Given the description of an element on the screen output the (x, y) to click on. 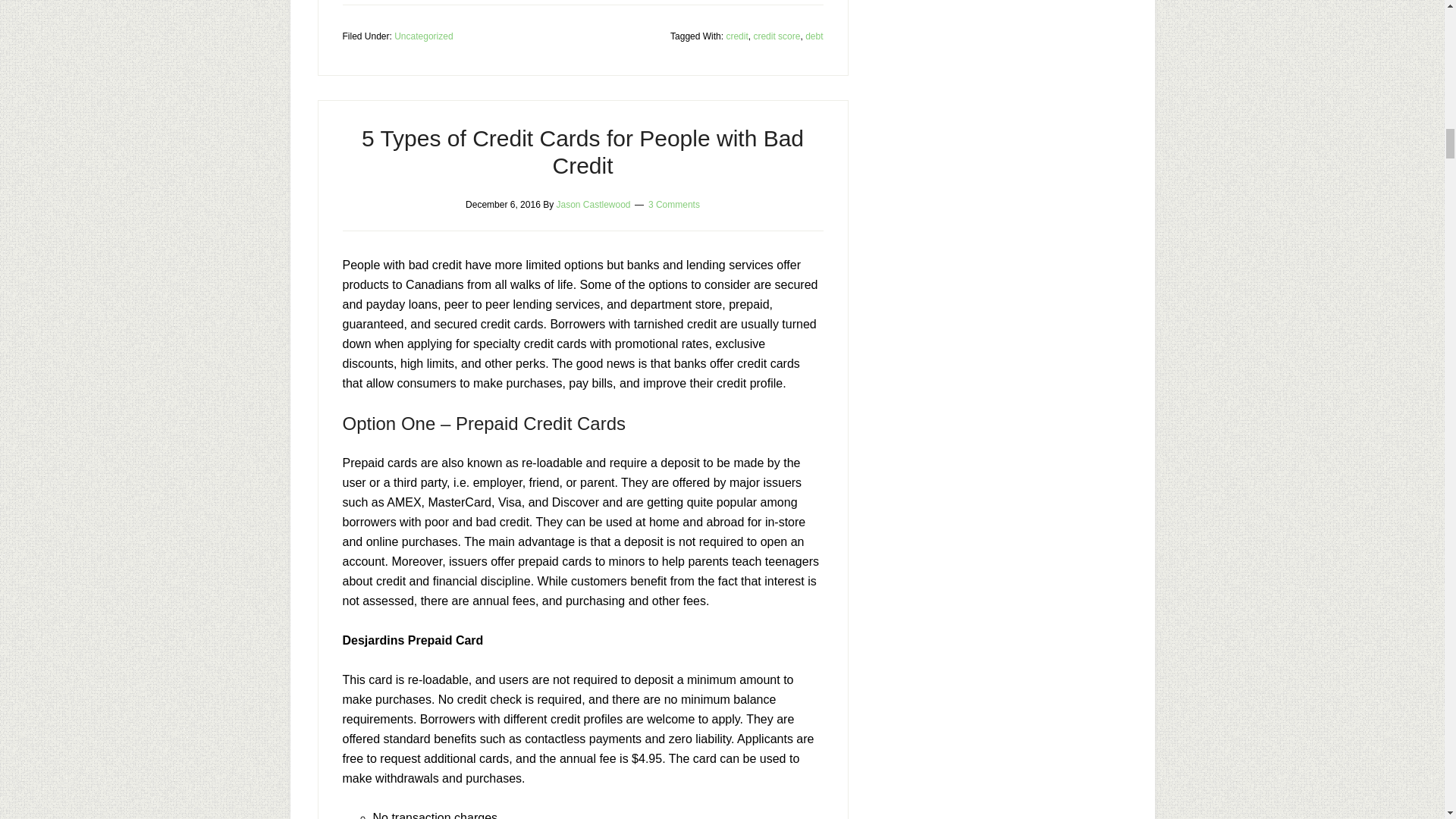
credit (736, 36)
Jason Castlewood (593, 204)
credit score (775, 36)
debt (813, 36)
3 Comments (673, 204)
5 Types of Credit Cards for People with Bad Credit (582, 152)
Uncategorized (423, 36)
